Given the description of an element on the screen output the (x, y) to click on. 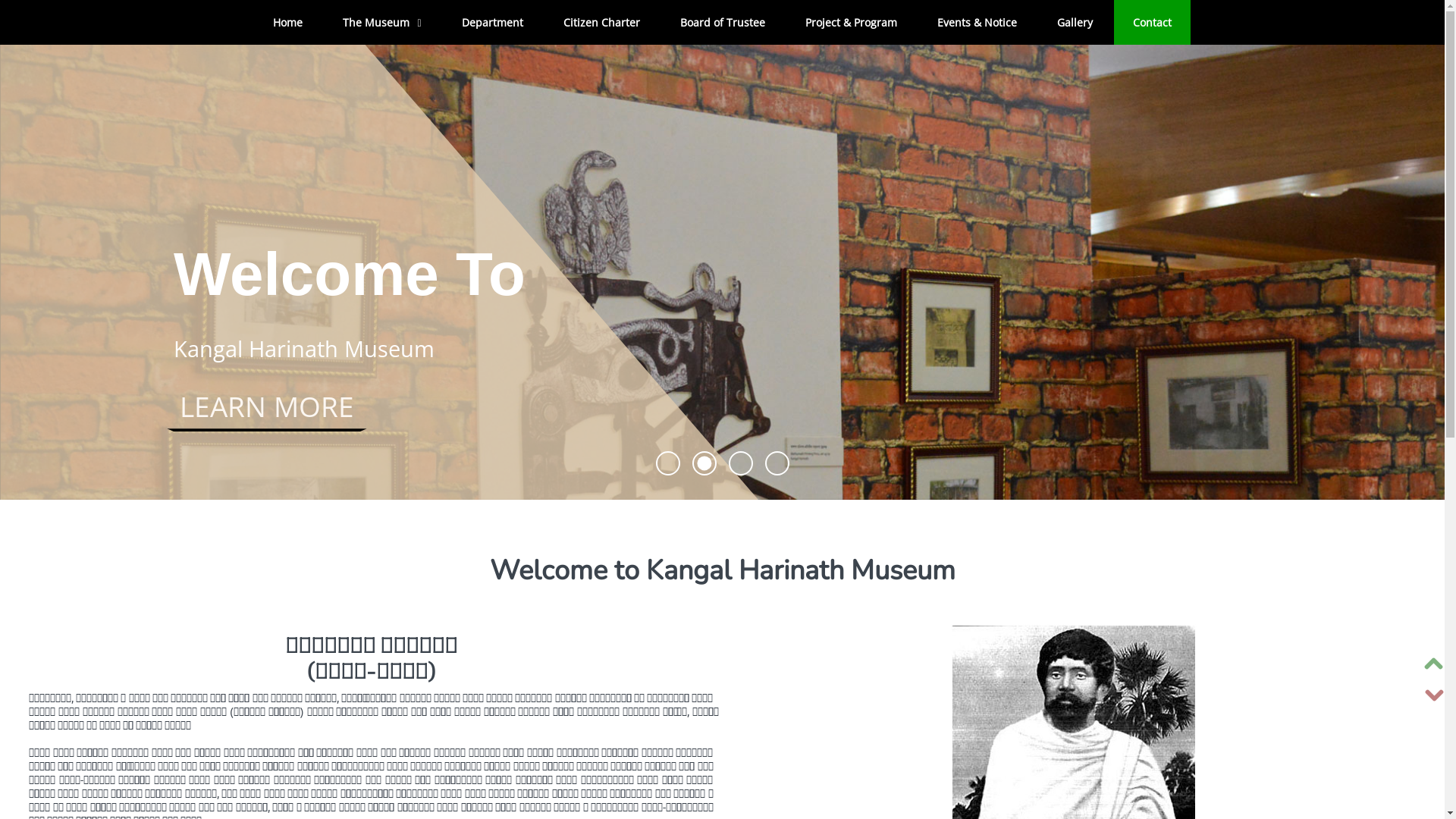
Board of Trustee Element type: text (722, 22)
Gallery Element type: text (1074, 22)
Bottom Element type: hover (1433, 694)
Project & Program Element type: text (851, 22)
Contact Element type: text (1151, 22)
Citizen Charter Element type: text (601, 22)
Top Element type: hover (1433, 663)
Events & Notice Element type: text (976, 22)
The Museum Element type: text (381, 22)
Department Element type: text (492, 22)
LEARN MORE Element type: text (266, 406)
Home Element type: text (287, 22)
